Given the description of an element on the screen output the (x, y) to click on. 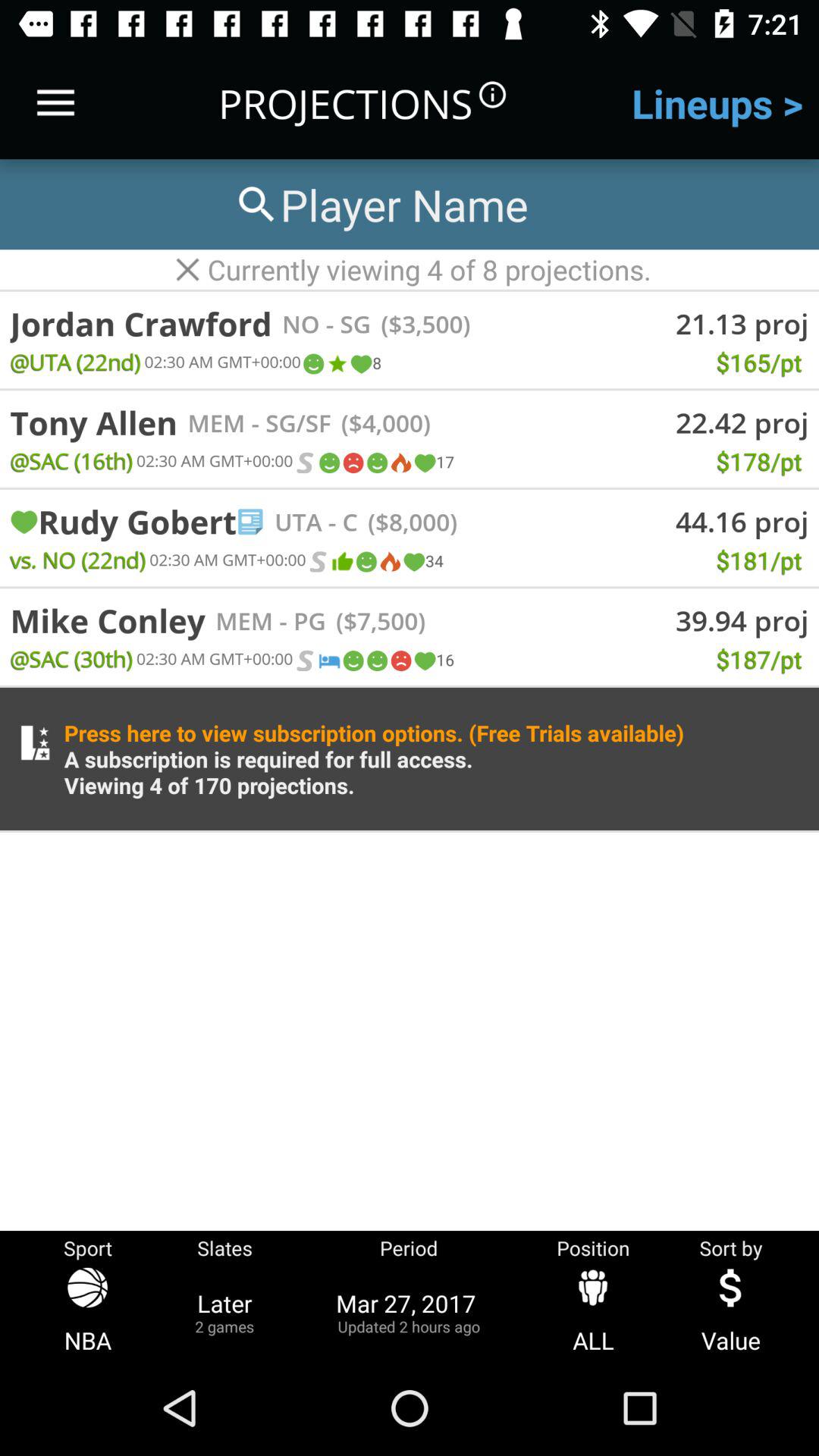
press the icon to the left of mem item (107, 620)
